Given the description of an element on the screen output the (x, y) to click on. 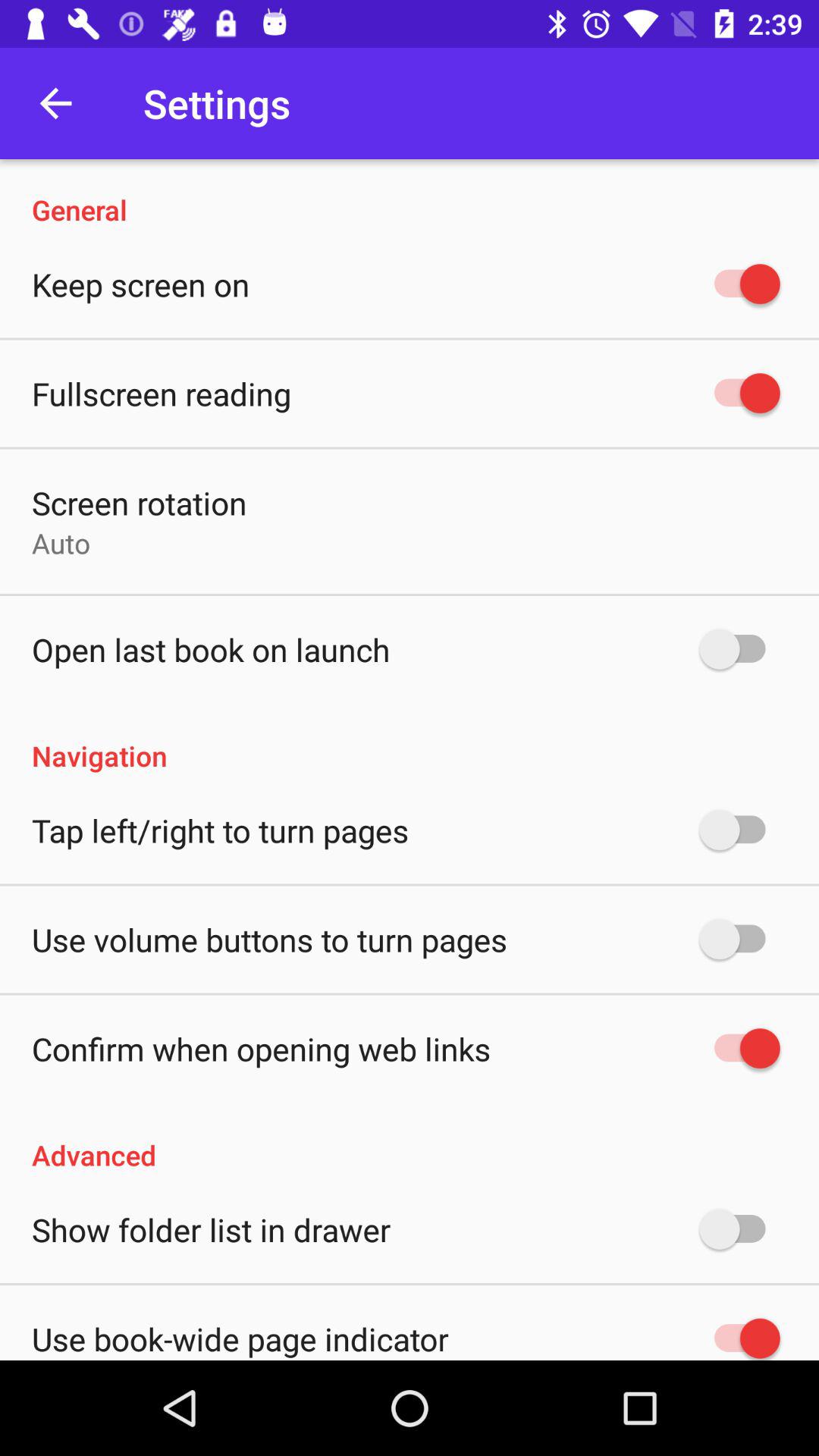
choose icon below the general icon (140, 283)
